Given the description of an element on the screen output the (x, y) to click on. 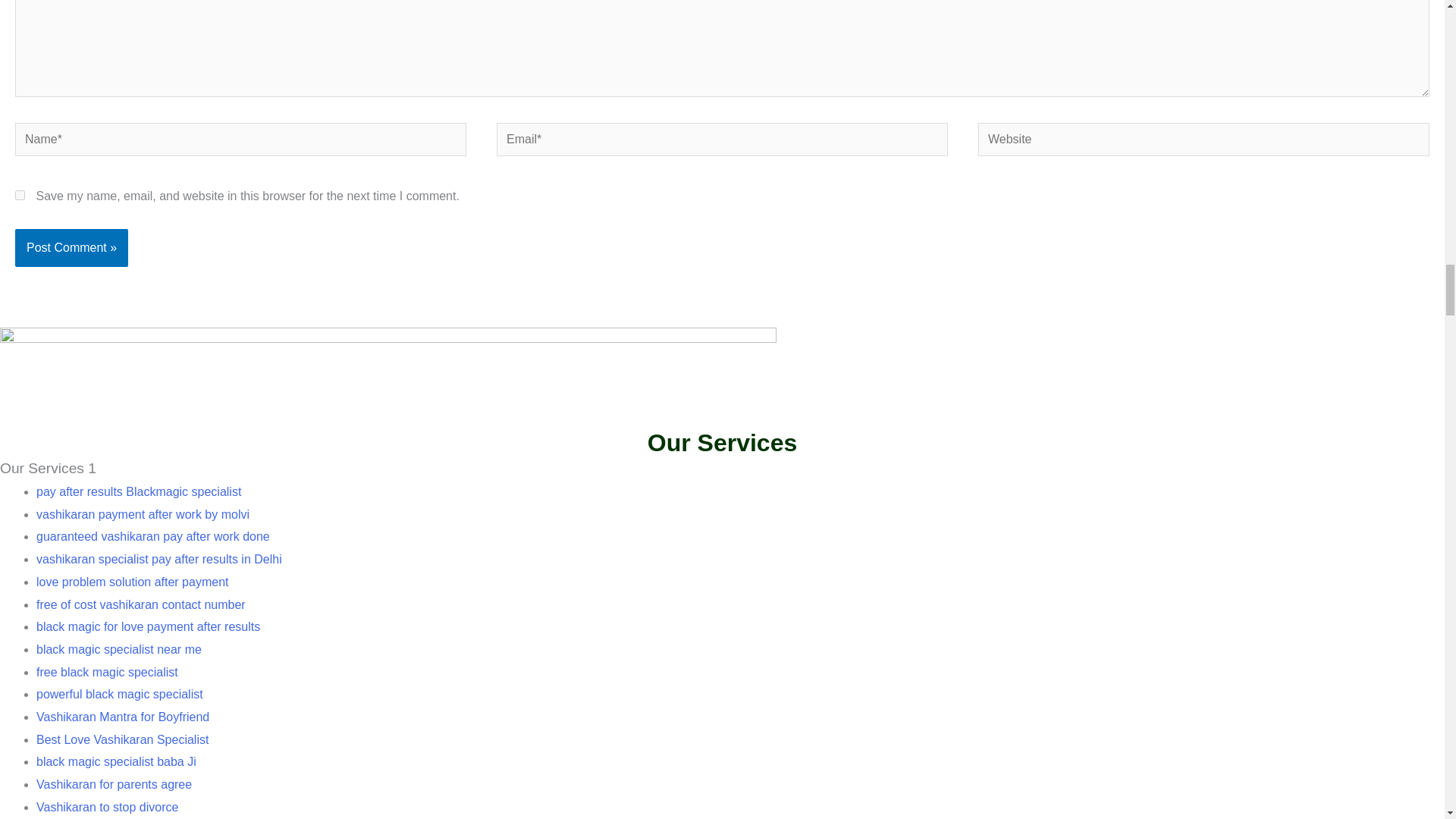
pay after results Blackmagic specialist (138, 491)
black magic for love payment after results (148, 626)
vashikaran specialist pay after results in Delhi (159, 558)
vashikaran payment after work by molvi (142, 513)
guaranteed vashikaran pay after work done (152, 535)
love problem solution after payment (132, 581)
black magic specialist near me (119, 649)
yes (19, 194)
free of cost vashikaran contact number (141, 603)
